Given the description of an element on the screen output the (x, y) to click on. 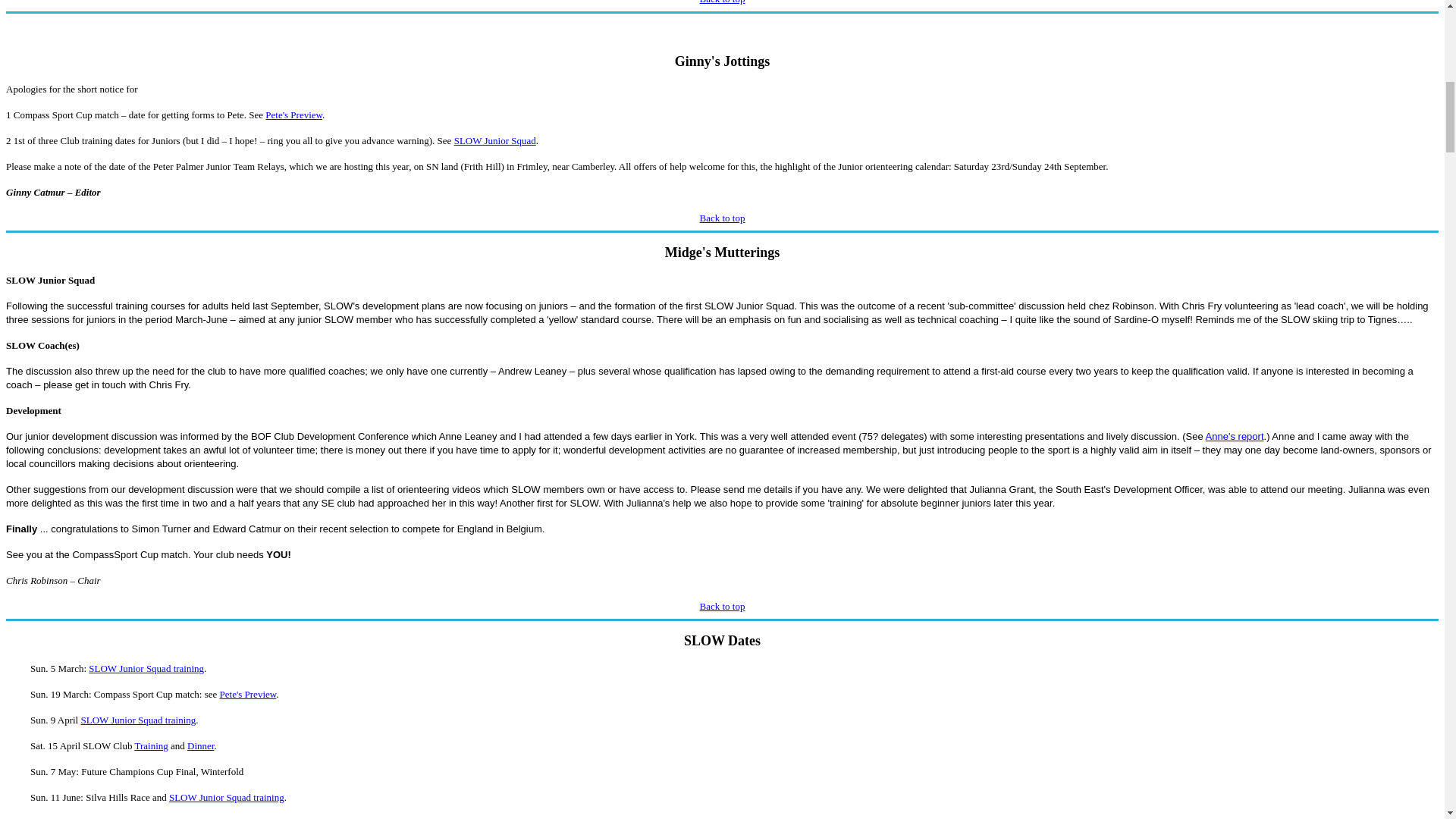
Back to top (722, 216)
Pete's Preview (292, 114)
Dinner (200, 745)
Back to top (722, 2)
Anne's report (1234, 436)
Pete's Preview (247, 694)
Training (150, 745)
SLOW Junior Squad training (225, 797)
SLOW Junior Squad training (137, 719)
Back to top (722, 604)
SLOW Junior Squad (494, 140)
SLOW Junior Squad training (145, 668)
